Given the description of an element on the screen output the (x, y) to click on. 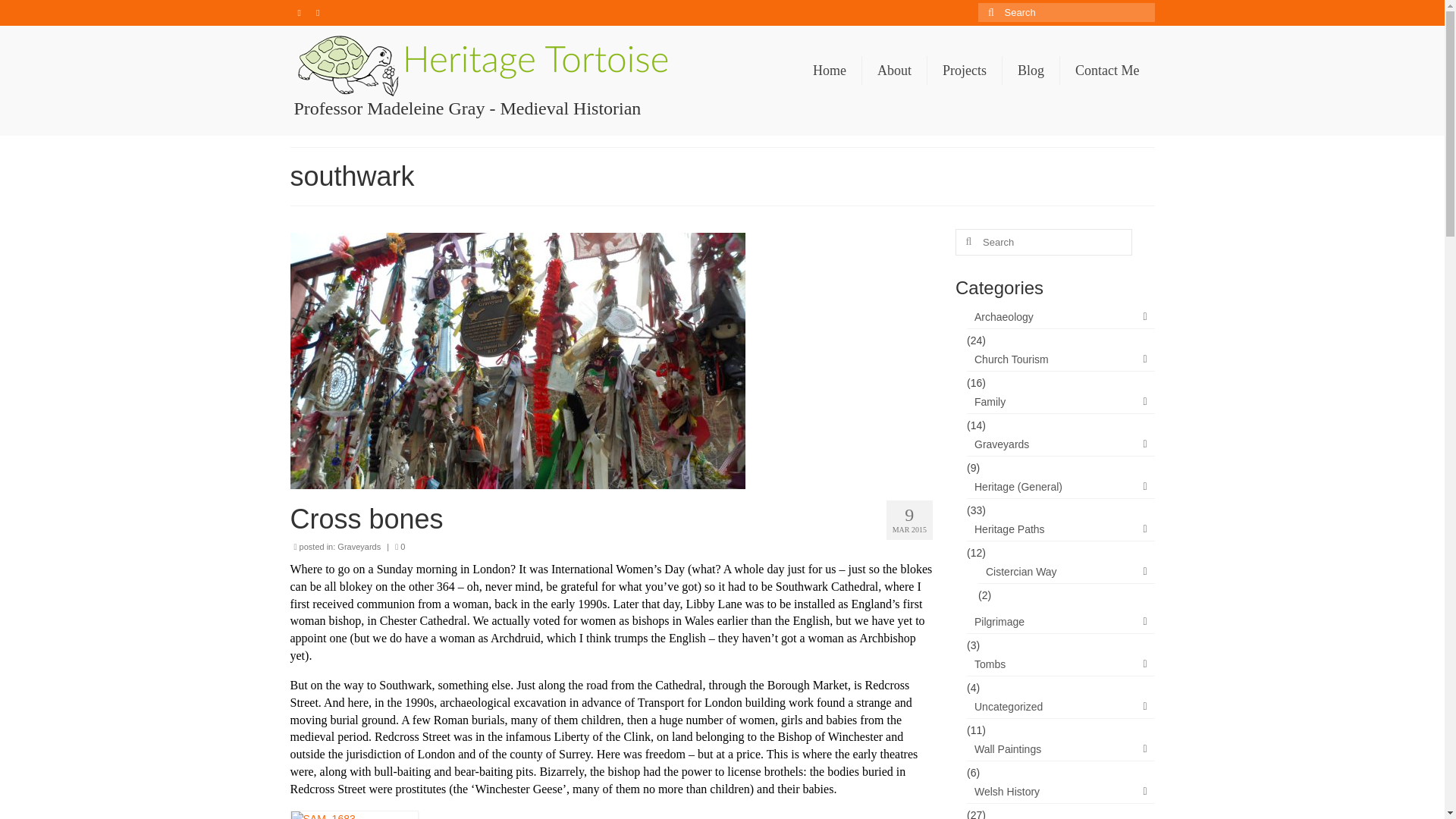
Projects (964, 70)
About (893, 70)
Family (1060, 402)
Contact Me (1106, 70)
Graveyards (358, 546)
Archaeology (1060, 317)
Cross bones (611, 519)
Blog (1031, 70)
Church Tourism (1060, 359)
Home (829, 70)
